Given the description of an element on the screen output the (x, y) to click on. 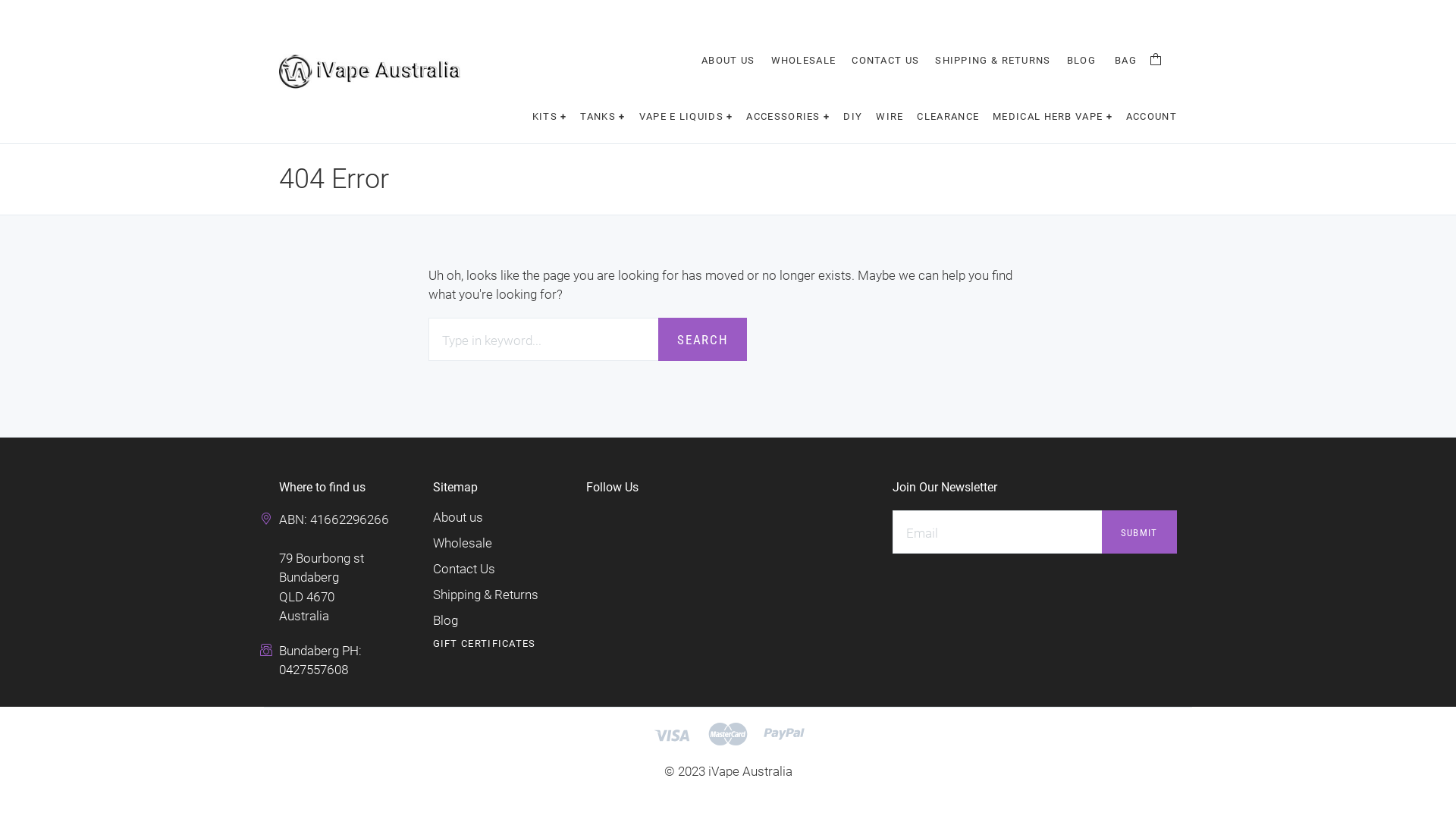
ABOUT US Element type: text (727, 59)
About us Element type: text (458, 516)
Submit Element type: text (1138, 531)
Blog Element type: text (445, 619)
ACCOUNT Element type: text (1151, 116)
HOME Element type: text (709, 179)
VAPE E LIQUIDS + Element type: text (686, 116)
Wholesale Element type: text (462, 542)
DIY Element type: text (852, 116)
CONTACT US Element type: text (885, 59)
Shipping & Returns Element type: text (485, 594)
BLOG Element type: text (1080, 59)
ERROR Element type: text (754, 179)
SEARCH Element type: text (702, 338)
ACCESSORIES + Element type: text (787, 116)
CLEARANCE Element type: text (947, 116)
TANKS + Element type: text (602, 116)
Medical Herb Vape Element type: text (685, 34)
SHIPPING & RETURNS Element type: text (992, 59)
WHOLESALE Element type: text (803, 59)
GIFT CERTIFICATES Element type: text (484, 643)
Bundaberg PH: 0427557608 Element type: text (320, 660)
Contact Us Element type: text (464, 568)
KITS + Element type: text (549, 116)
MEDICAL HERB VAPE + Element type: text (1052, 116)
WIRE Element type: text (889, 116)
Accessories Element type: text (345, 34)
BAG Element type: text (1137, 62)
